Given the description of an element on the screen output the (x, y) to click on. 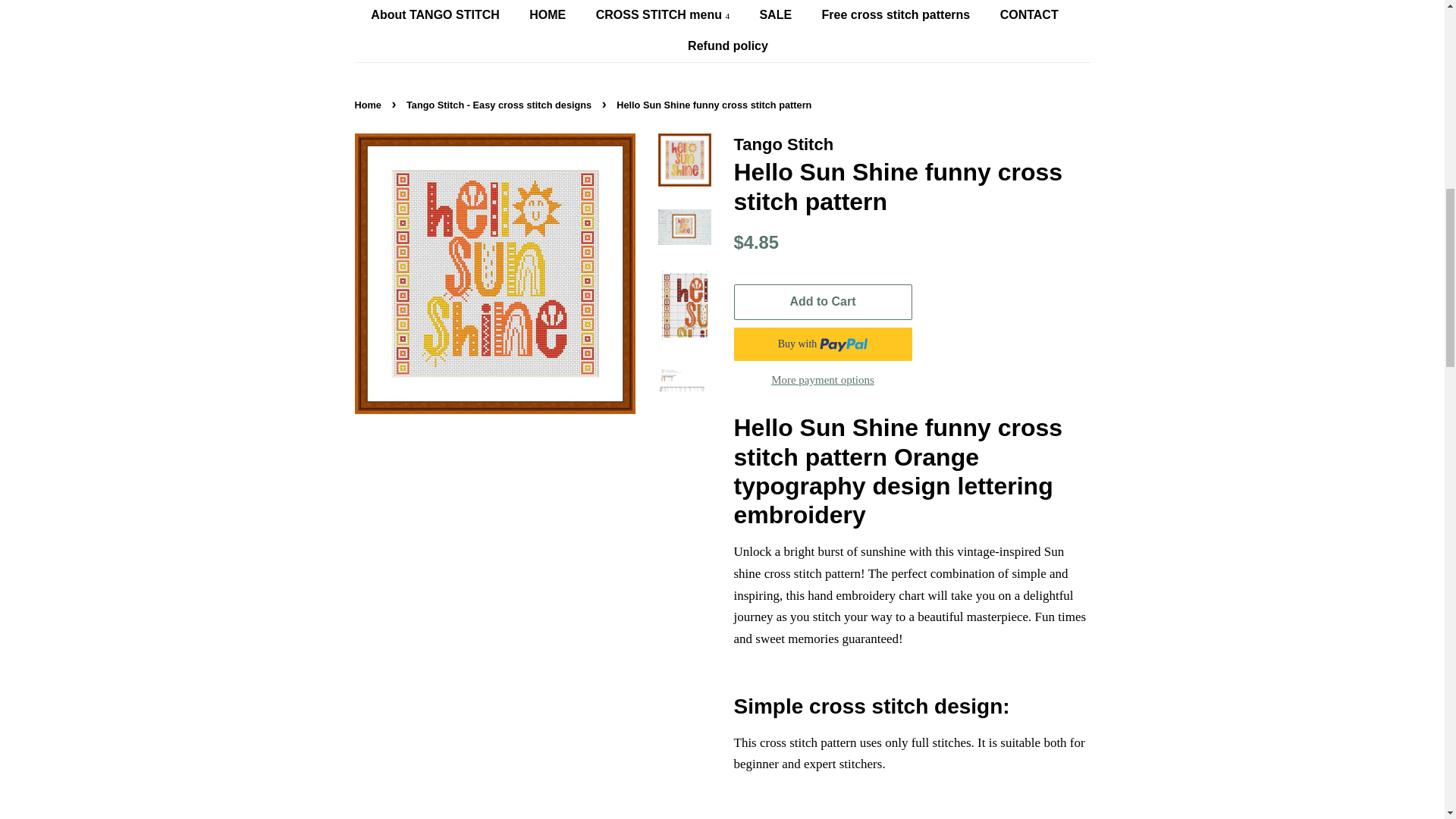
Back to the frontpage (370, 104)
